Given the description of an element on the screen output the (x, y) to click on. 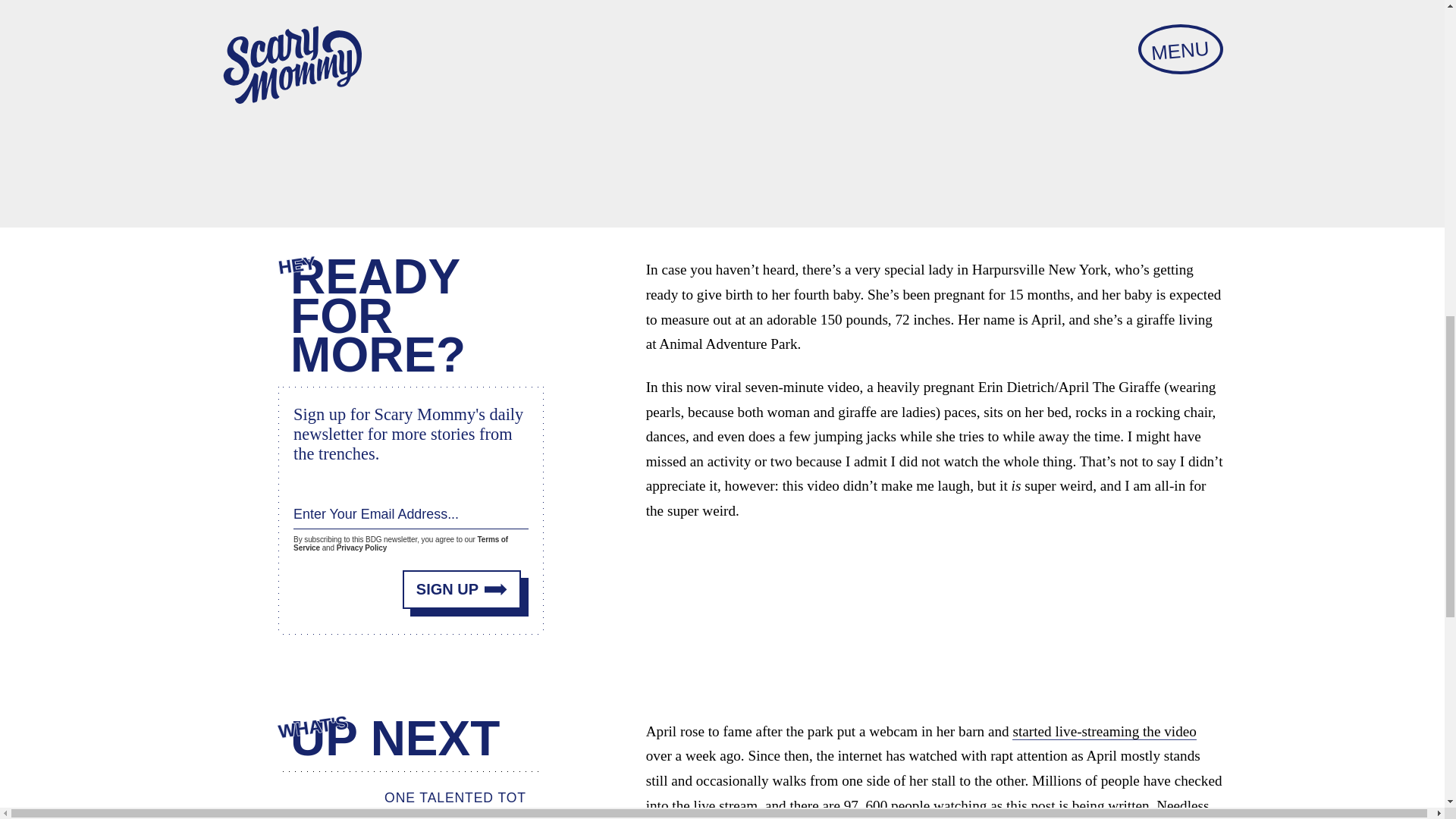
started live-streaming the video (1103, 731)
SIGN UP (462, 588)
Terms of Service (401, 543)
Privacy Policy (361, 547)
